Given the description of an element on the screen output the (x, y) to click on. 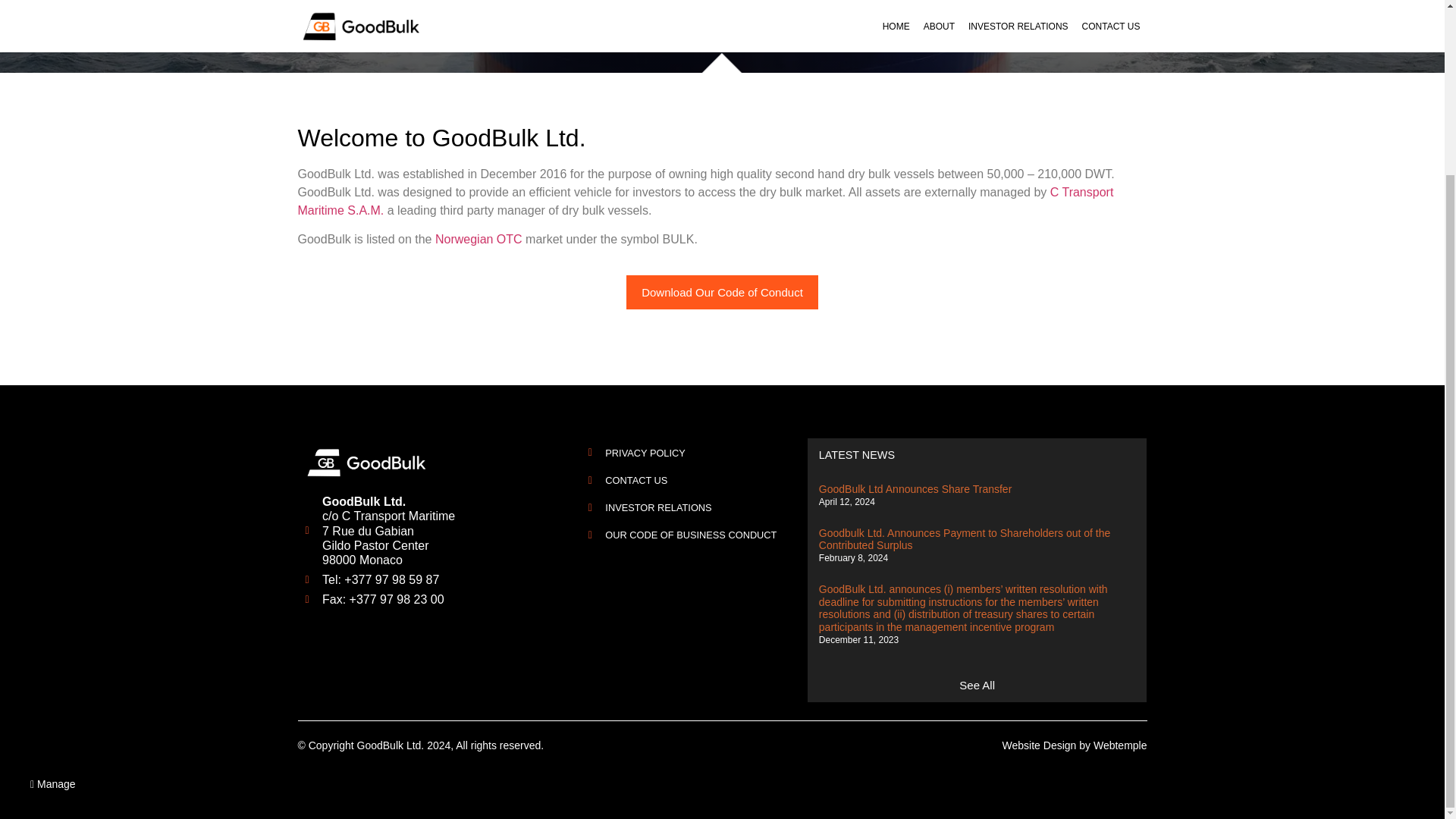
webtemple (1120, 745)
C Transport Maritime S.A.M. (705, 201)
PRIVACY POLICY (693, 452)
OUR CODE OF BUSINESS CONDUCT (693, 534)
INVESTOR RELATIONS (693, 507)
Norwegian OTC (478, 238)
Website Design (1040, 745)
CONTACT US (693, 480)
GoodBulk Ltd Announces Share Transfer (914, 489)
Download Our Code of Conduct (722, 292)
